Given the description of an element on the screen output the (x, y) to click on. 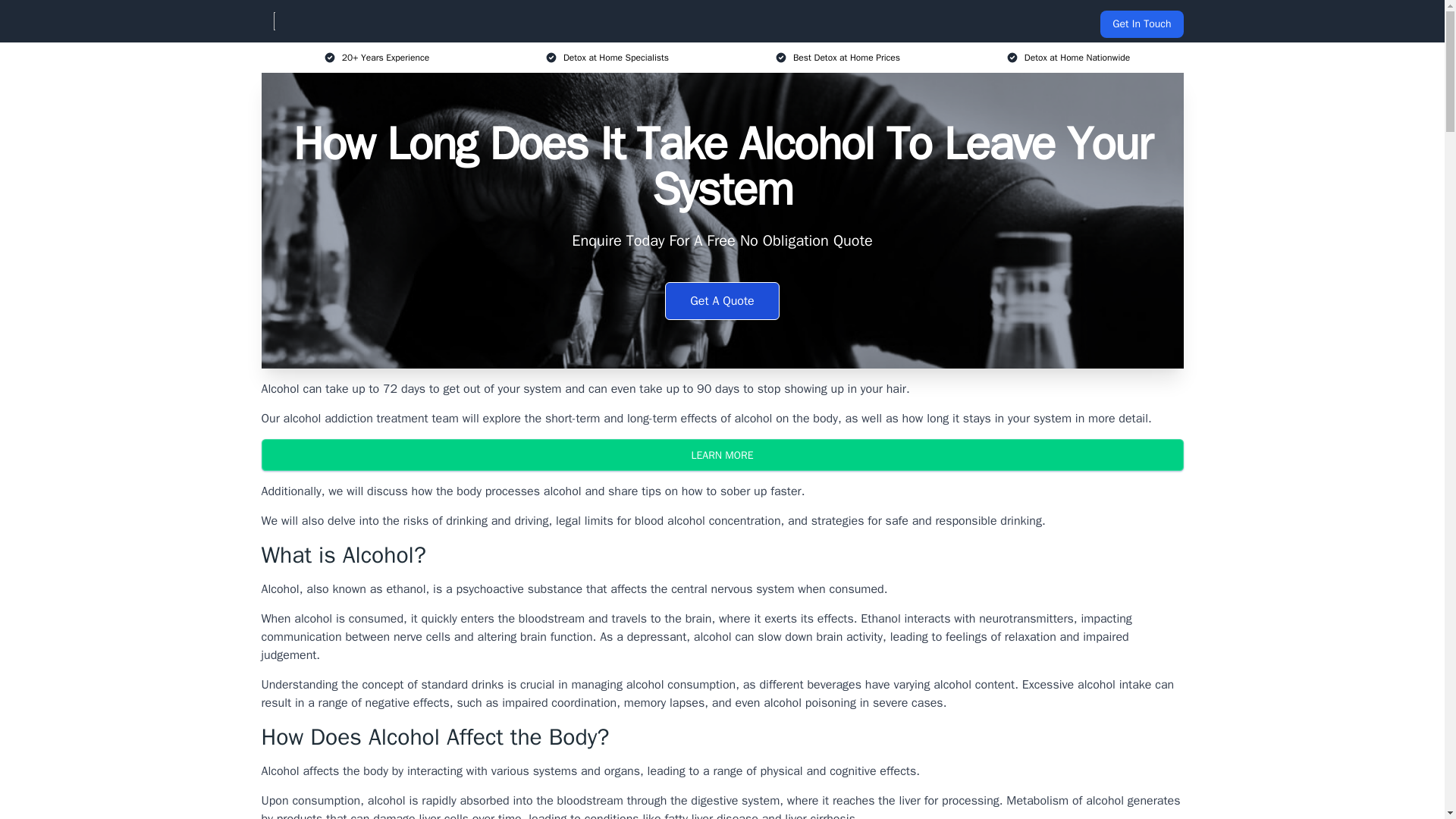
Get In Touch (1141, 23)
alcohol addiction treatment team (370, 418)
Get A Quote (721, 300)
LEARN MORE (721, 454)
